Given the description of an element on the screen output the (x, y) to click on. 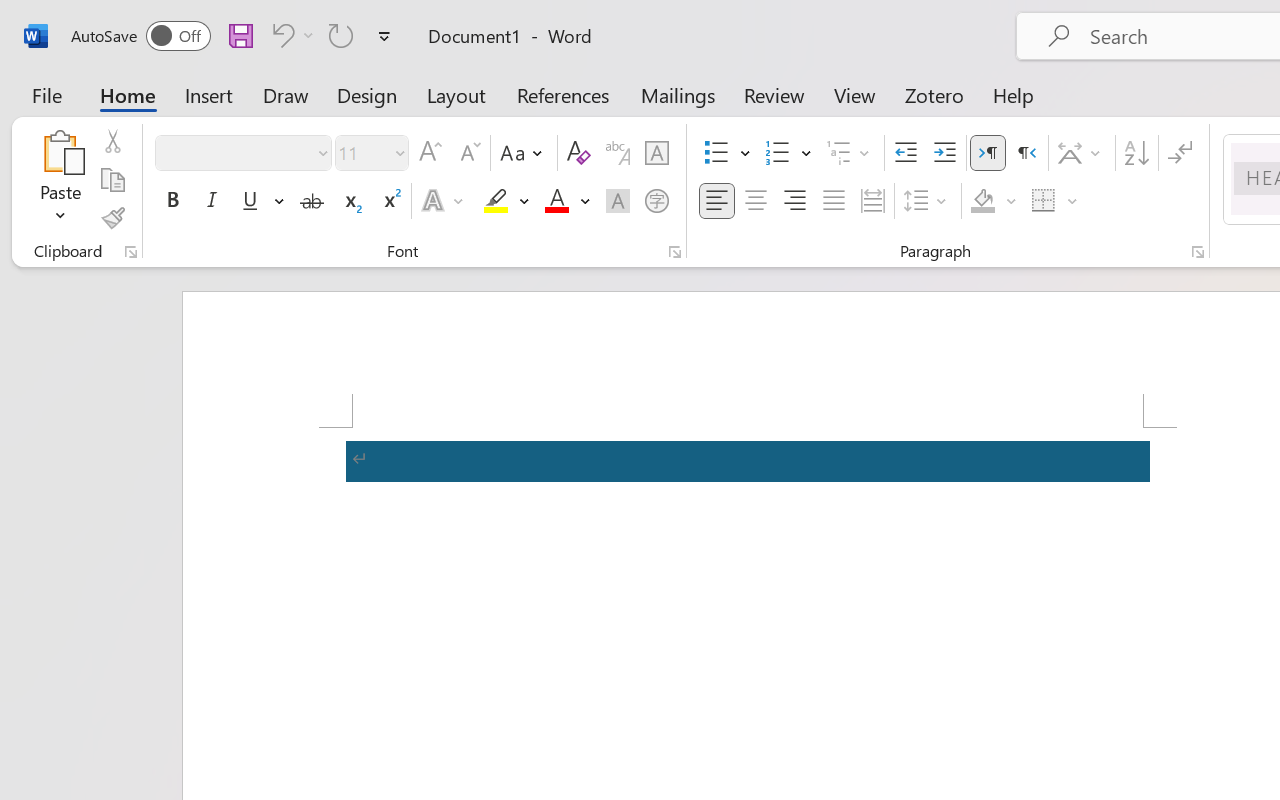
Undo Apply Quick Style Set (290, 35)
Undo Apply Quick Style Set (280, 35)
